Given the description of an element on the screen output the (x, y) to click on. 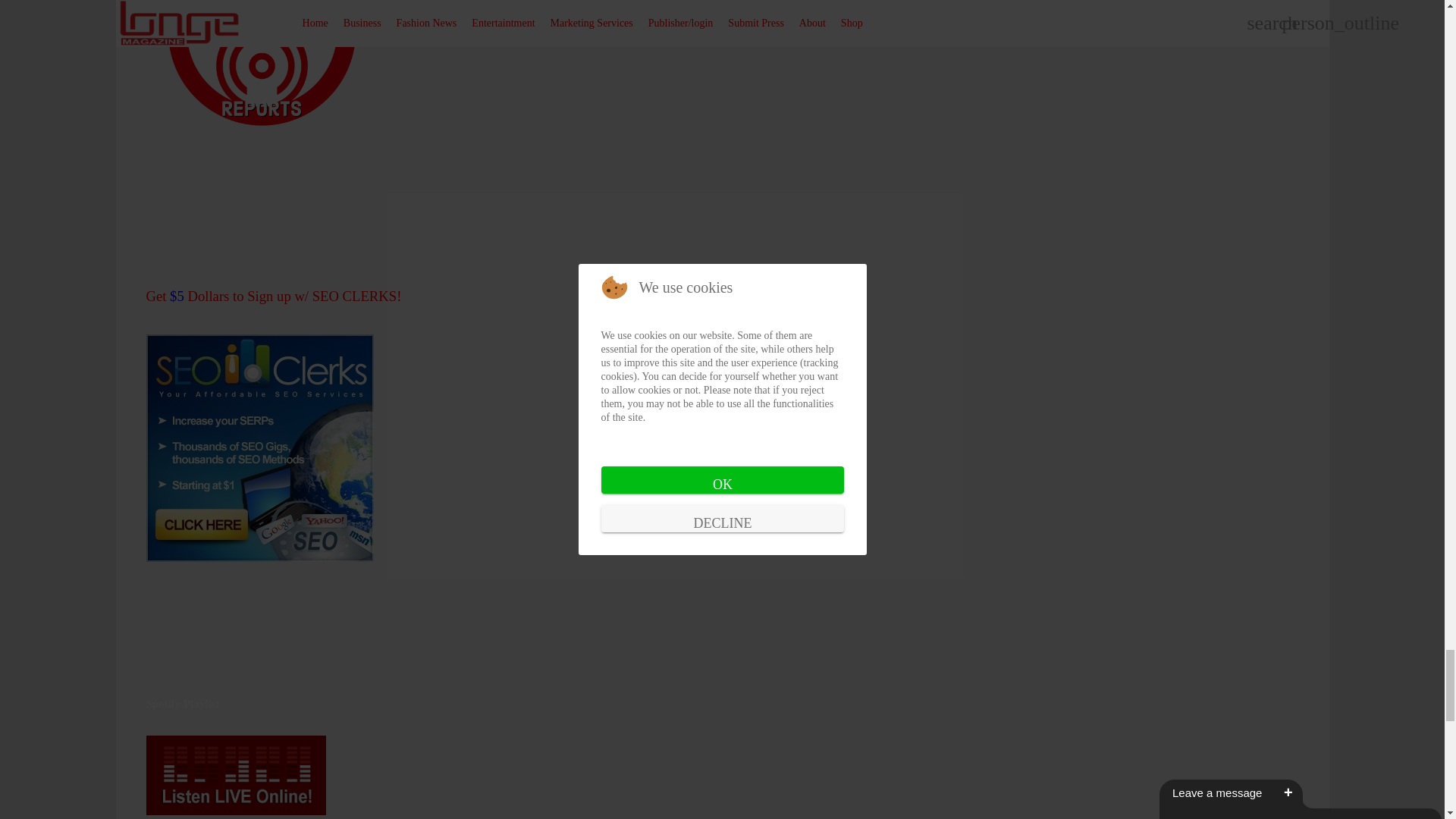
Longe FM (234, 811)
